Given the description of an element on the screen output the (x, y) to click on. 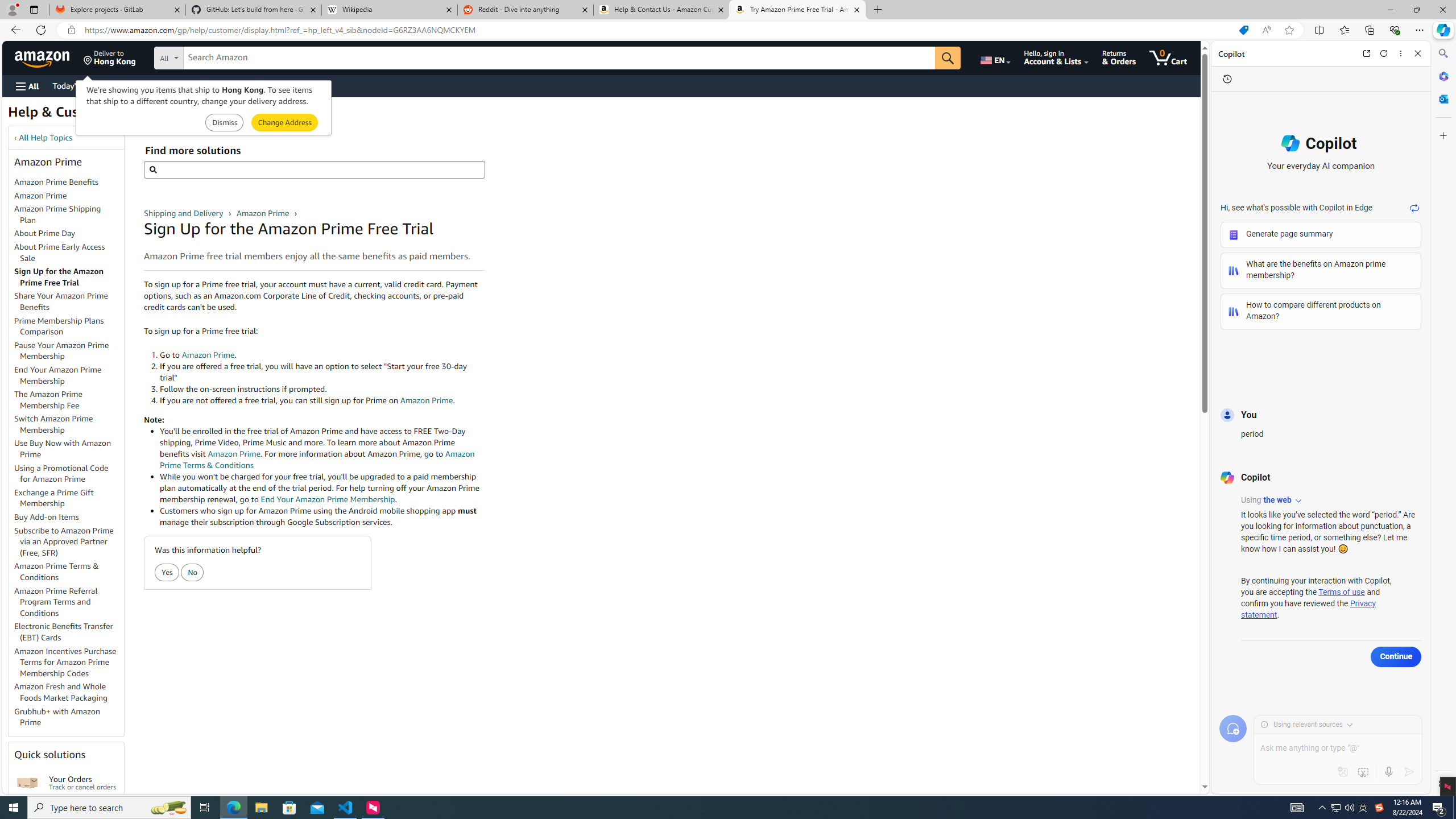
Switch Amazon Prime Membership (68, 424)
Amazon Prime Shipping Plan (68, 214)
The Amazon Prime Membership Fee (68, 400)
Amazon Prime Terms & Conditions (68, 572)
Shipping and Delivery  (184, 213)
Switch Amazon Prime Membership (53, 423)
Buy Add-on Items (68, 517)
Find more solutions (314, 169)
Share Your Amazon Prime Benefits (61, 301)
All Help Topics (45, 137)
